Given the description of an element on the screen output the (x, y) to click on. 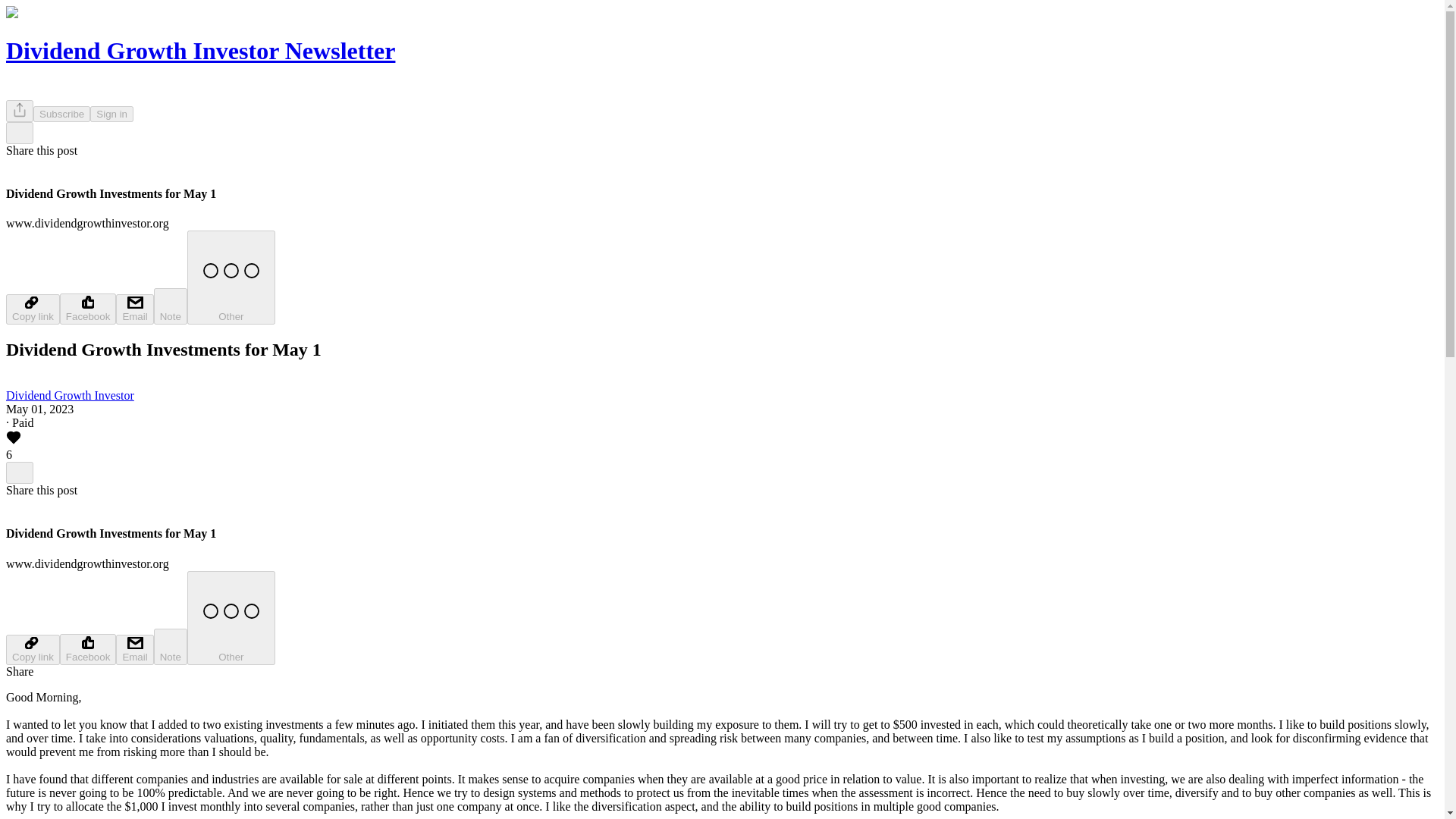
Note (170, 646)
Other (231, 617)
Copy link (32, 309)
Dividend Growth Investor (69, 395)
Email (134, 309)
Note (170, 306)
Sign in (111, 114)
Facebook (87, 649)
Copy link (32, 649)
Other (231, 277)
Subscribe (61, 114)
Facebook (87, 308)
Email (134, 649)
Dividend Growth Investor Newsletter (199, 50)
